Given the description of an element on the screen output the (x, y) to click on. 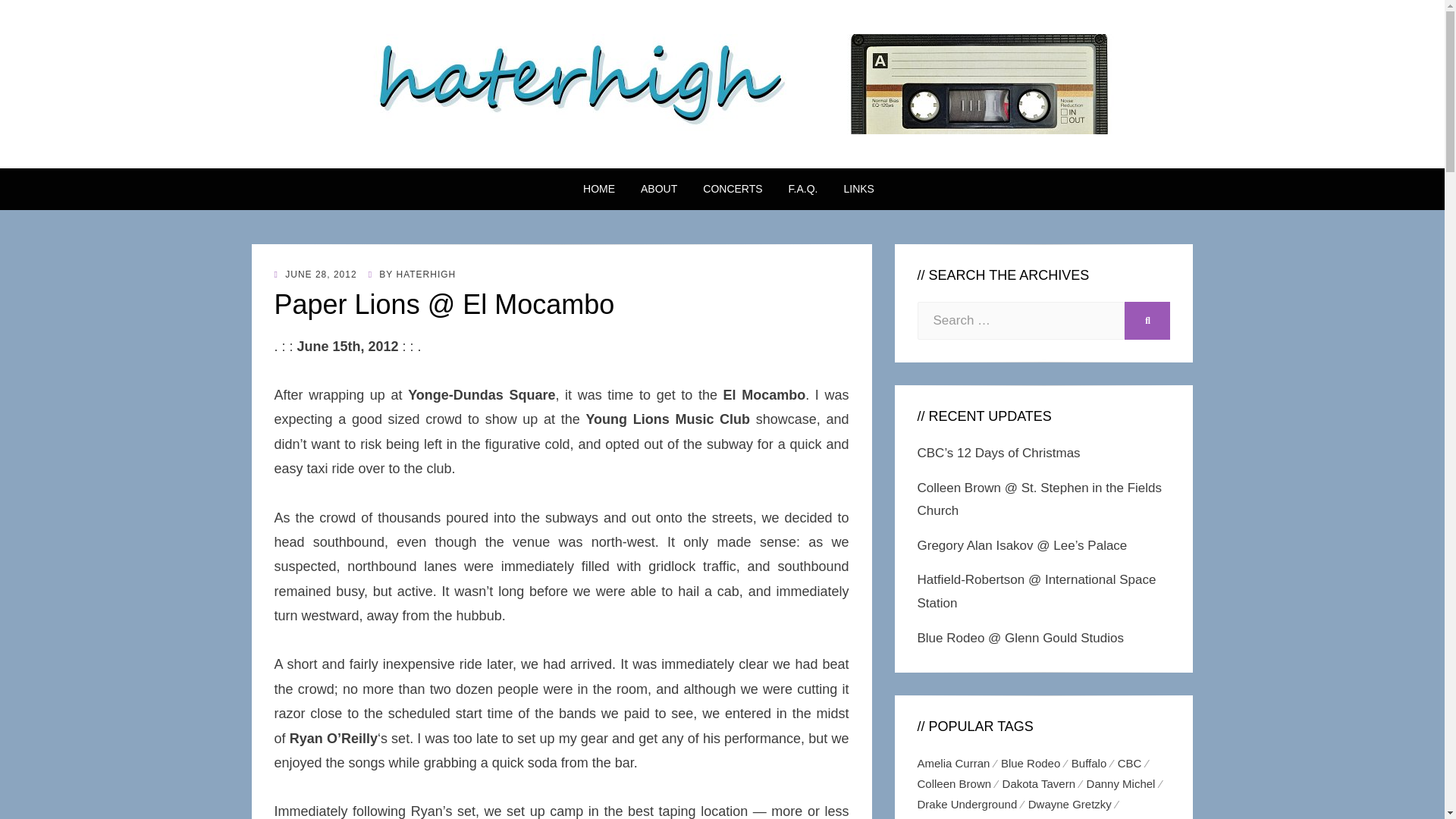
HOME (598, 189)
Blue Rodeo (1036, 762)
HATERHIGH (425, 274)
CONCERTS (732, 189)
Amelia Curran (959, 762)
JUNE 28, 2012 (315, 274)
F.A.Q. (803, 189)
Search for: (1021, 320)
LINKS (851, 189)
SEARCH (1147, 320)
